Given the description of an element on the screen output the (x, y) to click on. 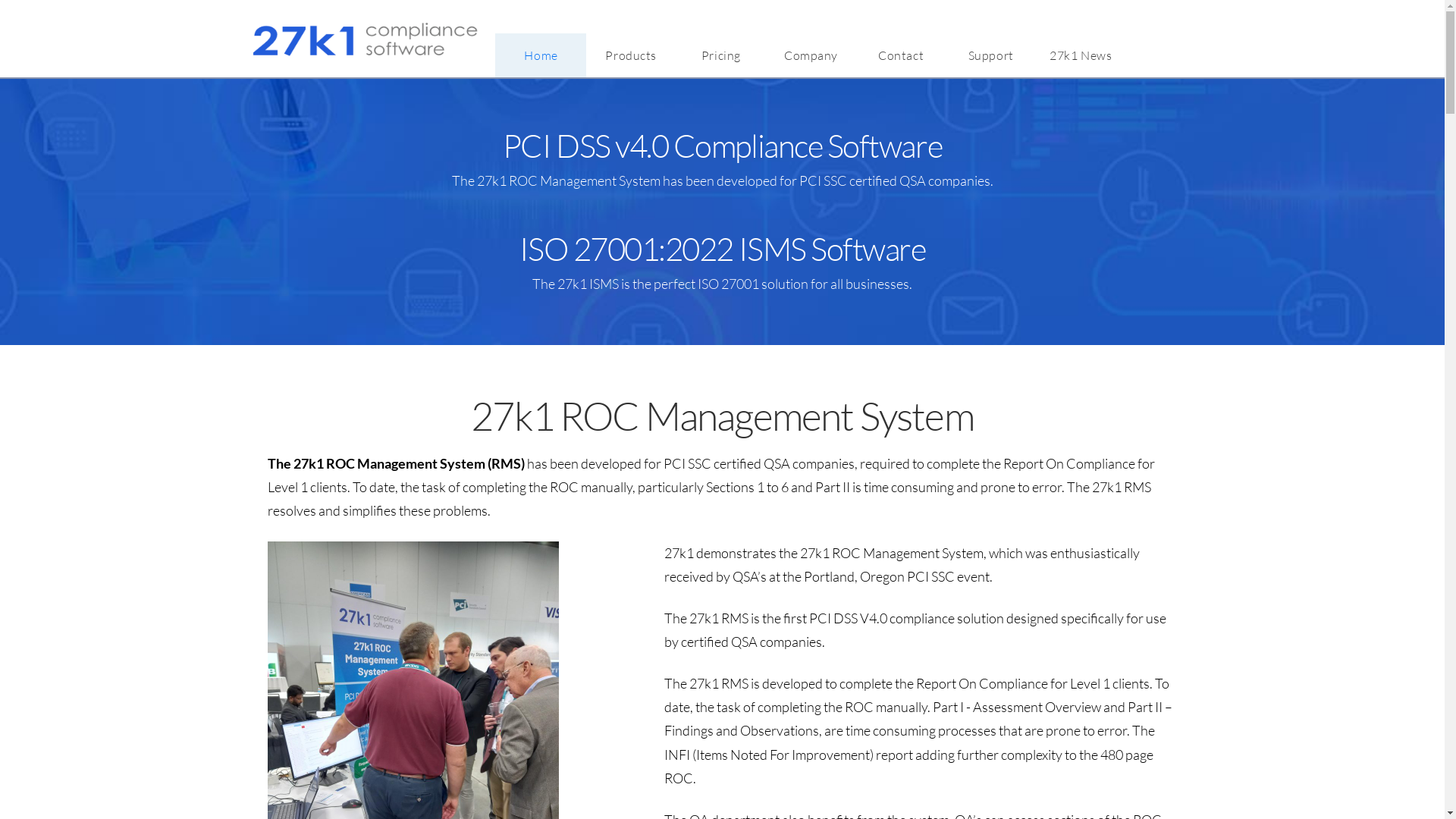
27k1 News Element type: text (1080, 55)
Pricing Element type: text (720, 55)
Support Element type: text (990, 55)
Company Element type: text (810, 55)
Home Element type: text (540, 55)
Products Element type: text (630, 55)
Contact Element type: text (900, 55)
